Given the description of an element on the screen output the (x, y) to click on. 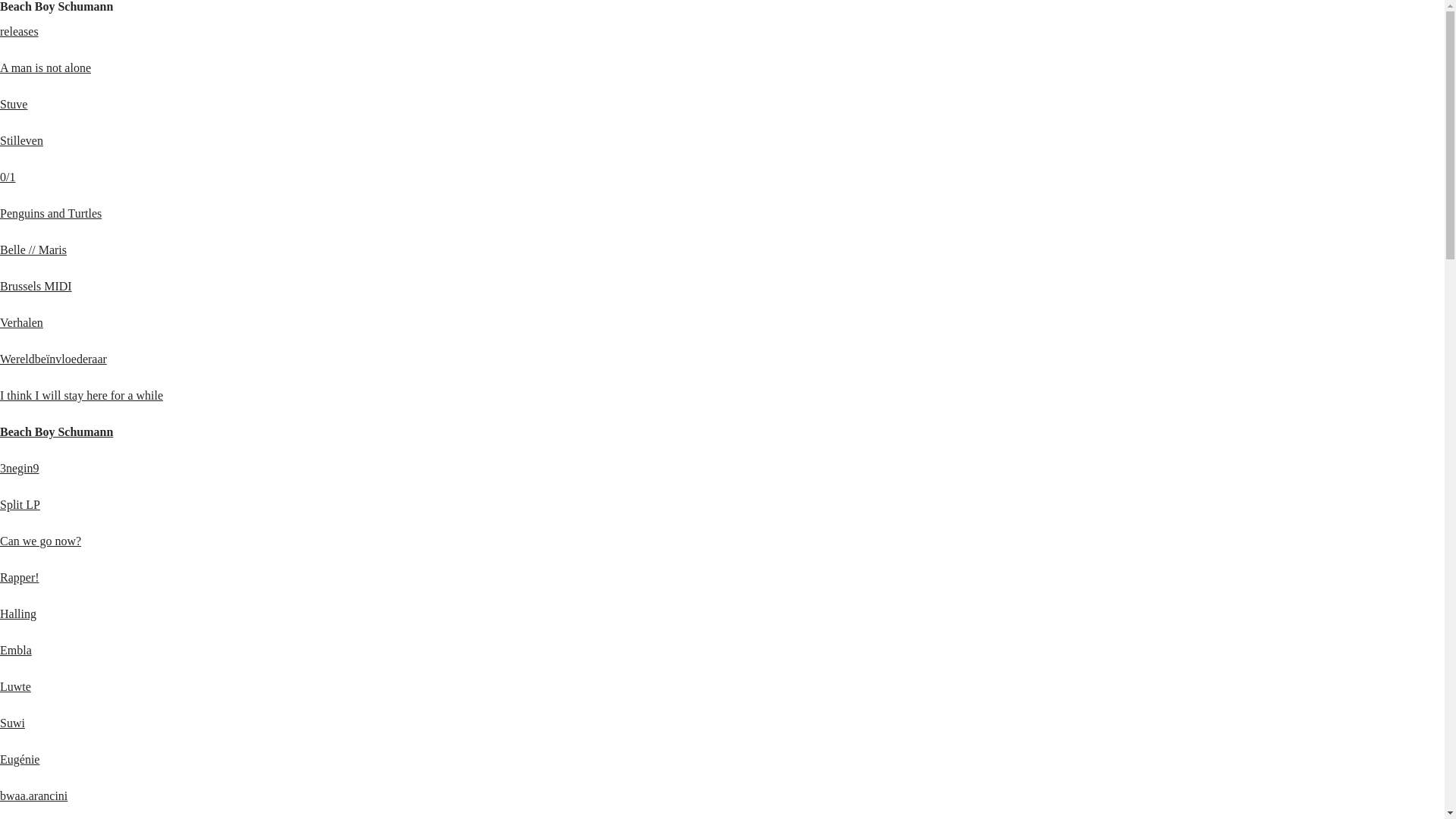
Penguins and Turtles Element type: text (50, 213)
releases Element type: text (19, 31)
Beach Boy Schumann Element type: text (56, 431)
Split LP Element type: text (20, 504)
Belle // Maris Element type: text (33, 249)
bwaa.arancini Element type: text (33, 795)
Halling Element type: text (18, 613)
Suwi Element type: text (12, 722)
Luwte Element type: text (15, 686)
Brussels MIDI Element type: text (36, 285)
Can we go now? Element type: text (40, 540)
Verhalen Element type: text (21, 322)
A man is not alone Element type: text (45, 67)
Embla Element type: text (15, 649)
0/1 Element type: text (7, 176)
I think I will stay here for a while Element type: text (81, 395)
3negin9 Element type: text (19, 467)
Stilleven Element type: text (21, 140)
Rapper! Element type: text (19, 577)
Stuve Element type: text (13, 103)
